Given the description of an element on the screen output the (x, y) to click on. 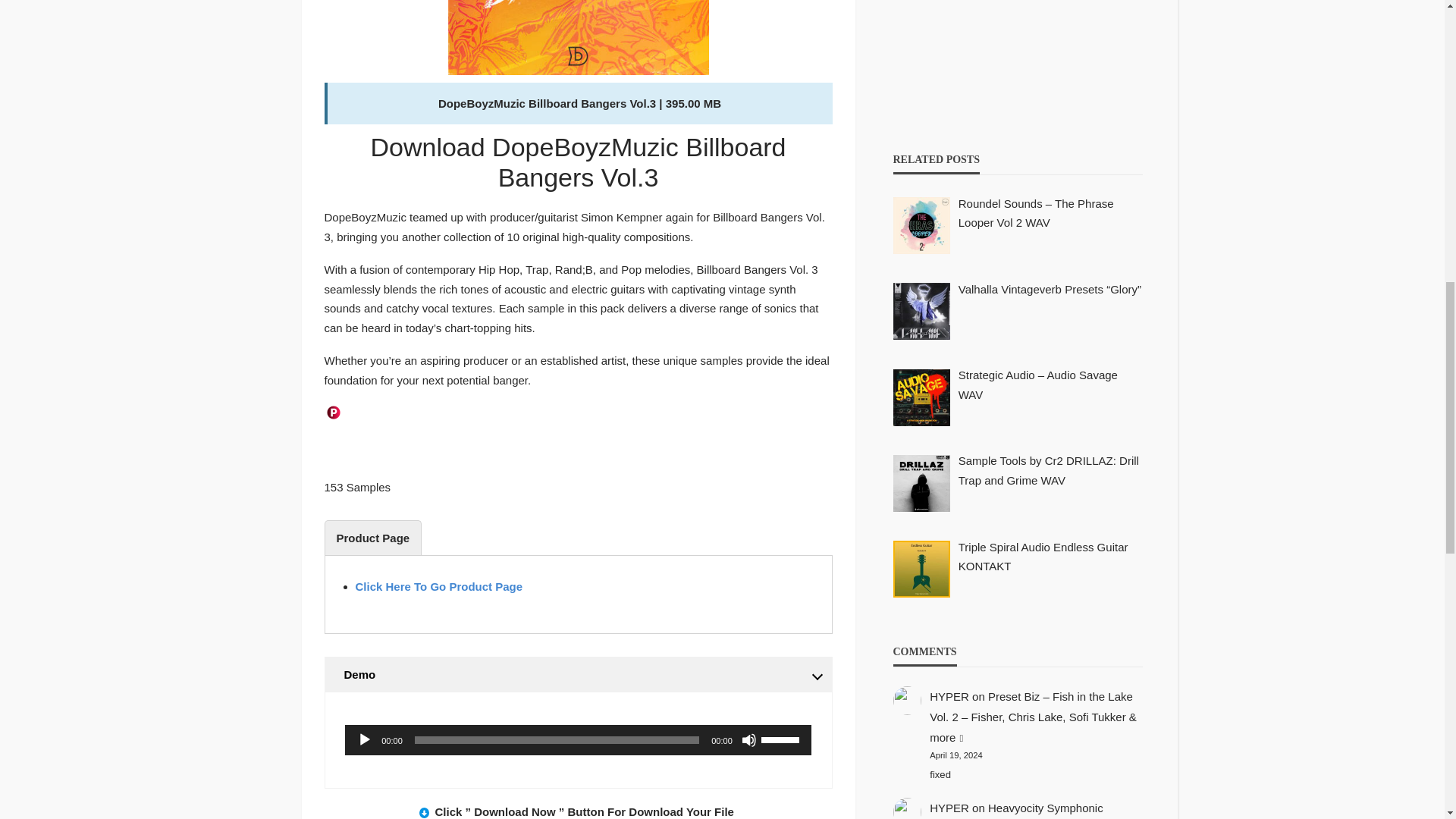
DopeBoyzMuzic Billboard Bangers Vol.3 WAV (576, 37)
Mute (749, 739)
Play (364, 739)
